Given the description of an element on the screen output the (x, y) to click on. 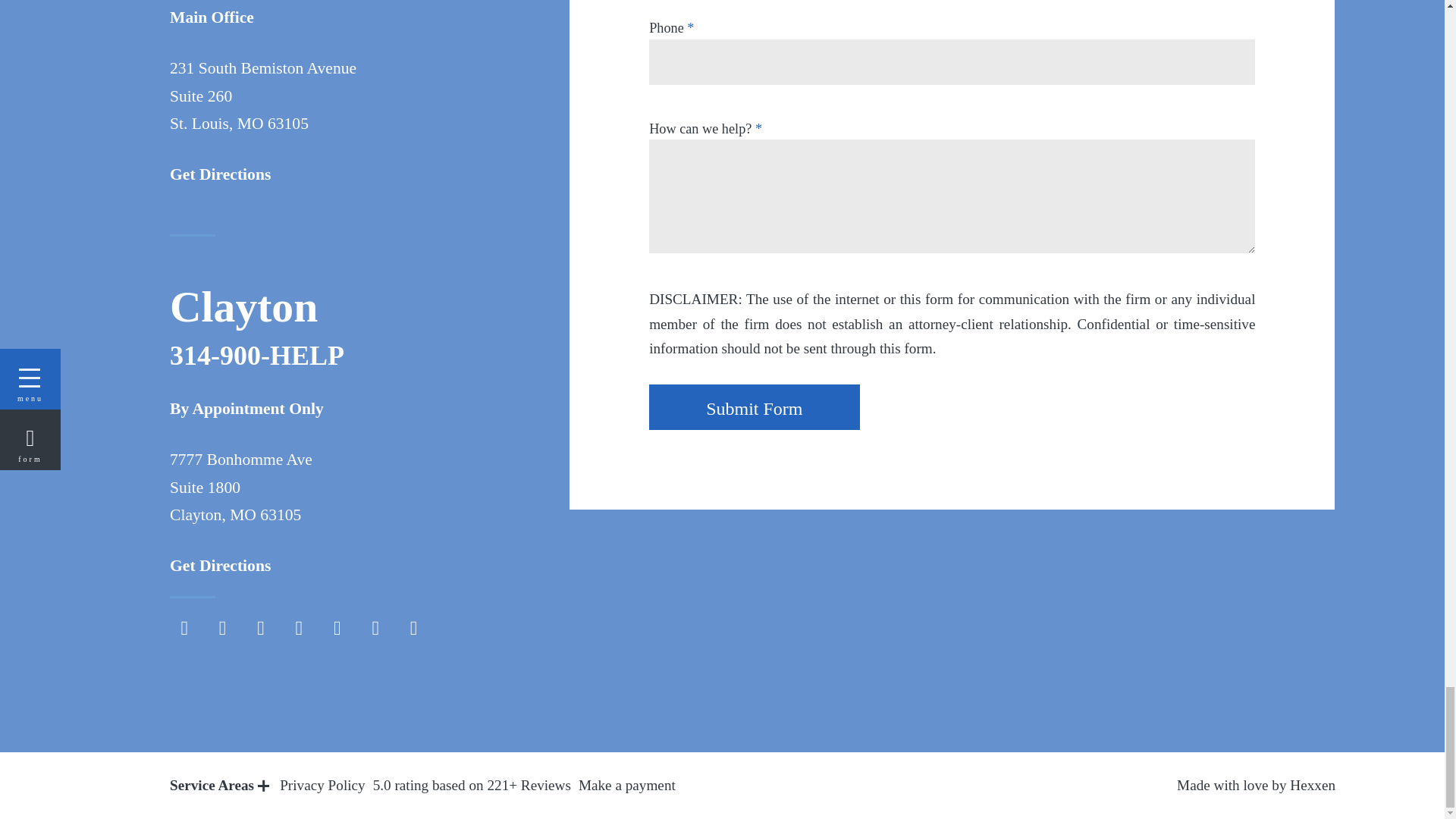
Get Directions (220, 565)
Submit Form (754, 406)
314-900-HELP (256, 355)
Get Directions (220, 174)
